Given the description of an element on the screen output the (x, y) to click on. 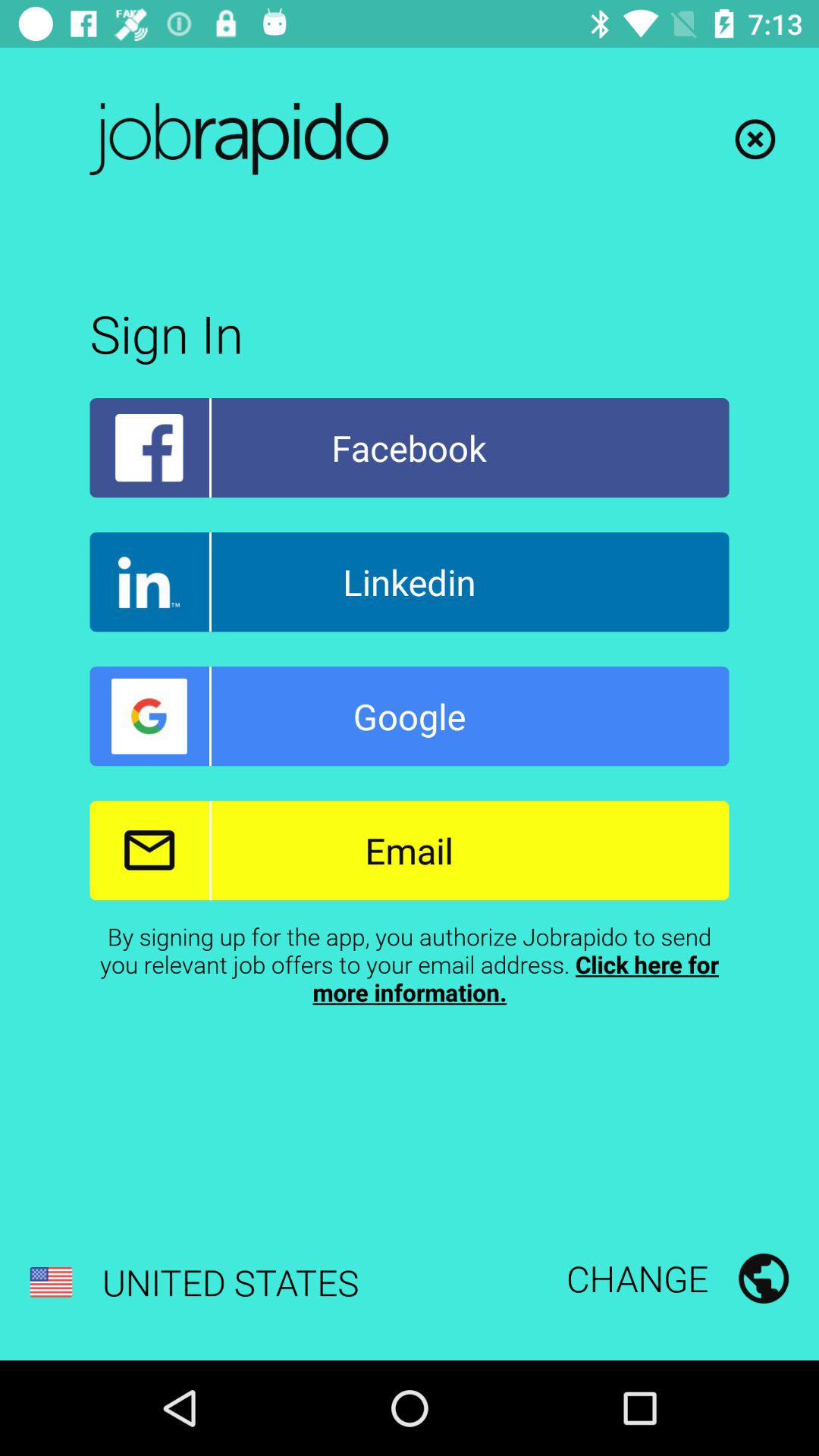
click icon below by signing up icon (194, 1282)
